Given the description of an element on the screen output the (x, y) to click on. 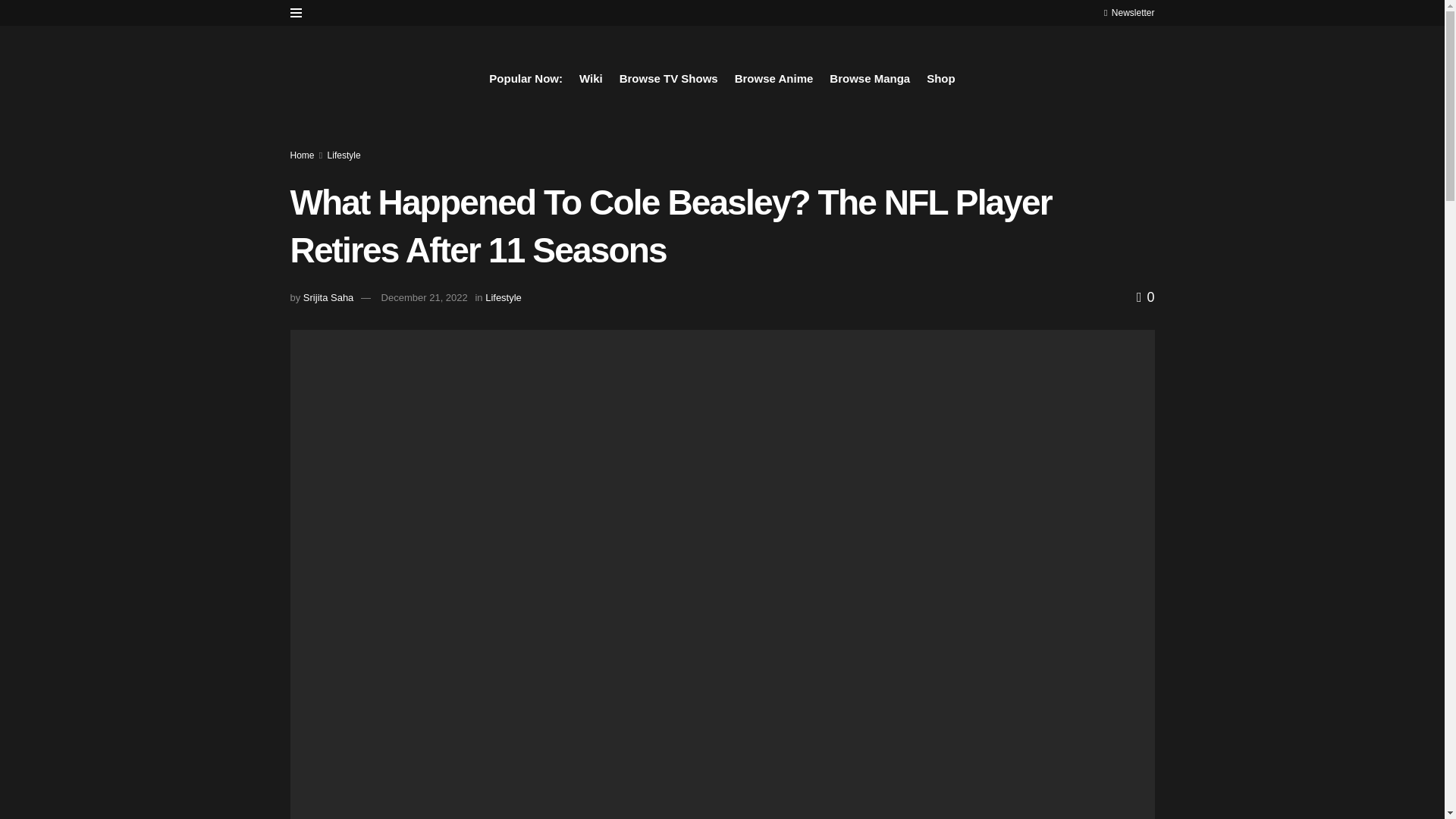
Popular Now: (525, 78)
Srijita Saha (327, 297)
Home (301, 154)
0 (1145, 296)
Lifestyle (344, 154)
Browse Manga (869, 78)
Browse TV Shows (668, 78)
Browse Anime (774, 78)
Newsletter (1128, 12)
Lifestyle (502, 297)
